Given the description of an element on the screen output the (x, y) to click on. 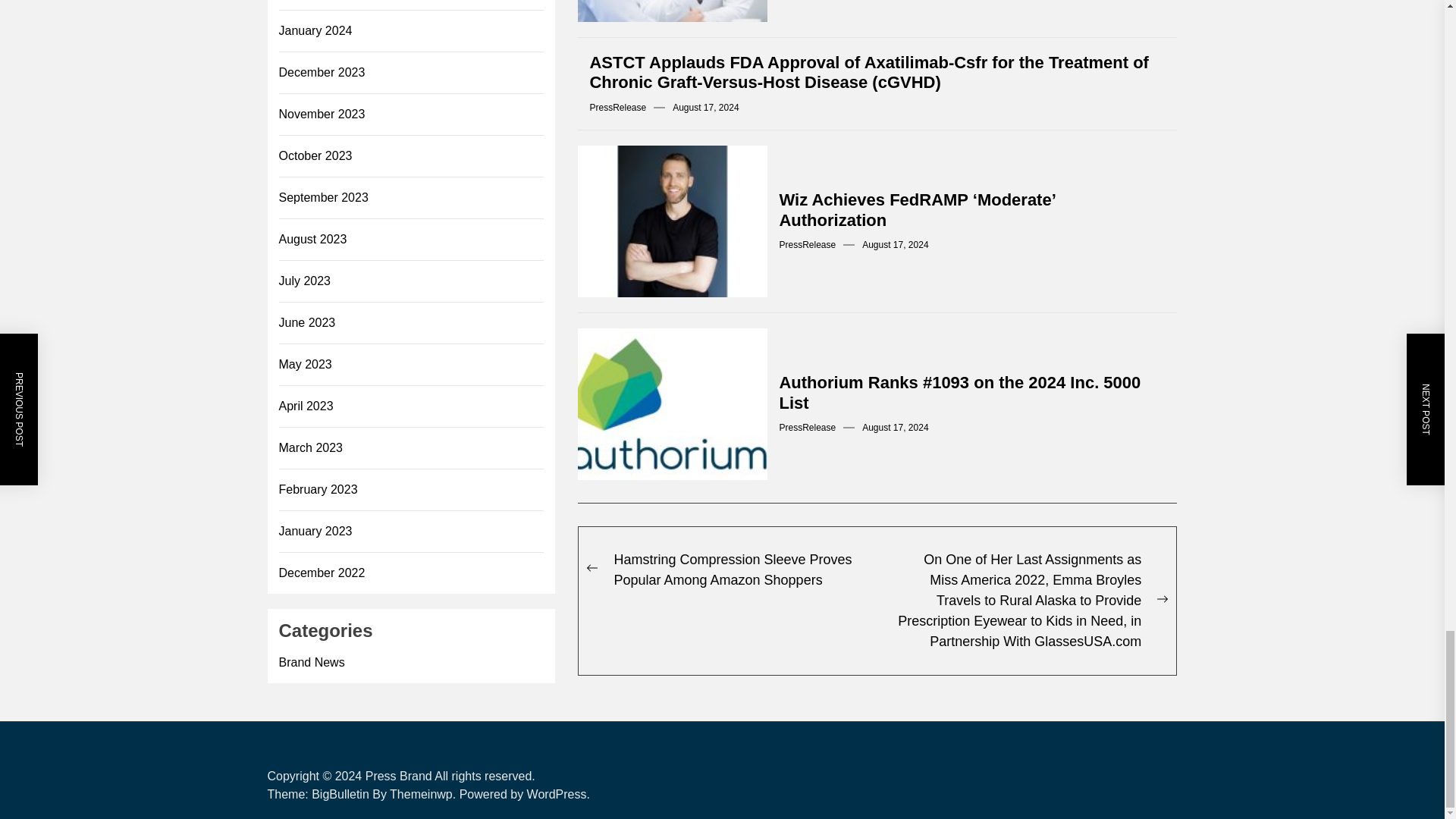
Press Brand (398, 775)
WordPress (558, 793)
Themeinwp (425, 793)
